Given the description of an element on the screen output the (x, y) to click on. 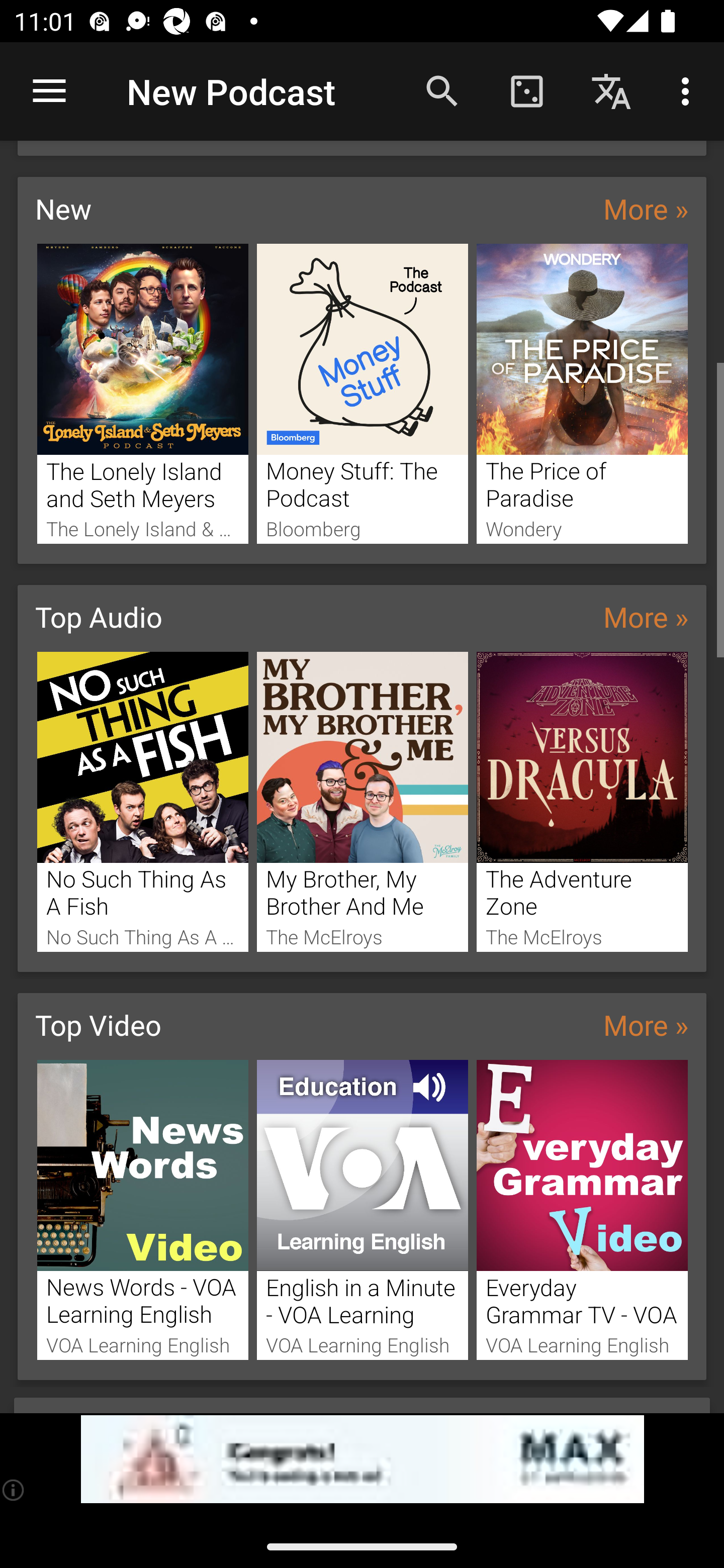
Open navigation sidebar (49, 91)
Search (442, 90)
Random pick (526, 90)
Podcast languages (611, 90)
More options (688, 90)
More » (645, 208)
Money Stuff: The Podcast Bloomberg (362, 393)
The Price of Paradise Wondery (581, 393)
More » (645, 616)
No Such Thing As A Fish (142, 801)
My Brother, My Brother And Me The McElroys (362, 801)
The Adventure Zone The McElroys (581, 801)
More » (645, 1024)
app-monetization (362, 1459)
(i) (14, 1489)
